Given the description of an element on the screen output the (x, y) to click on. 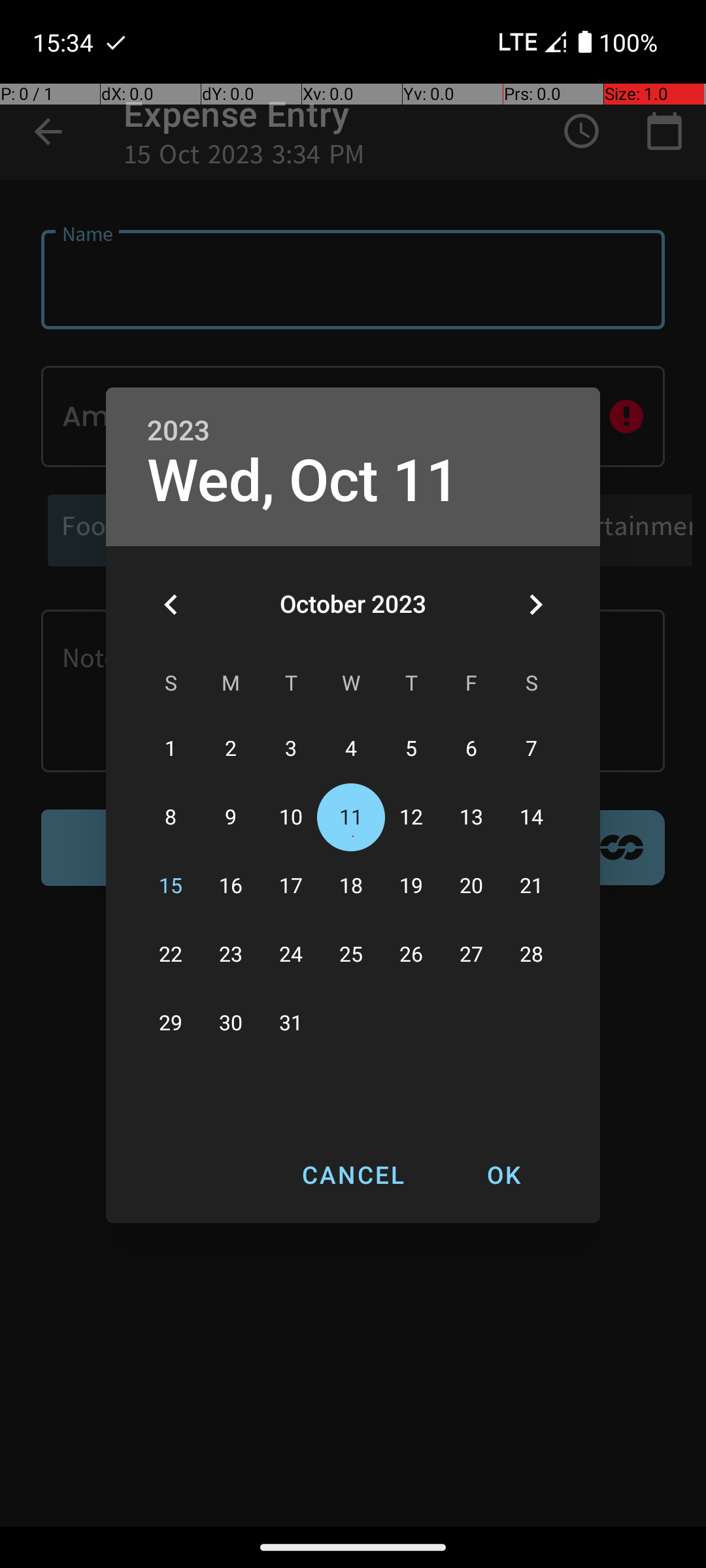
Wed, Oct 11 Element type: android.widget.TextView (303, 480)
